Given the description of an element on the screen output the (x, y) to click on. 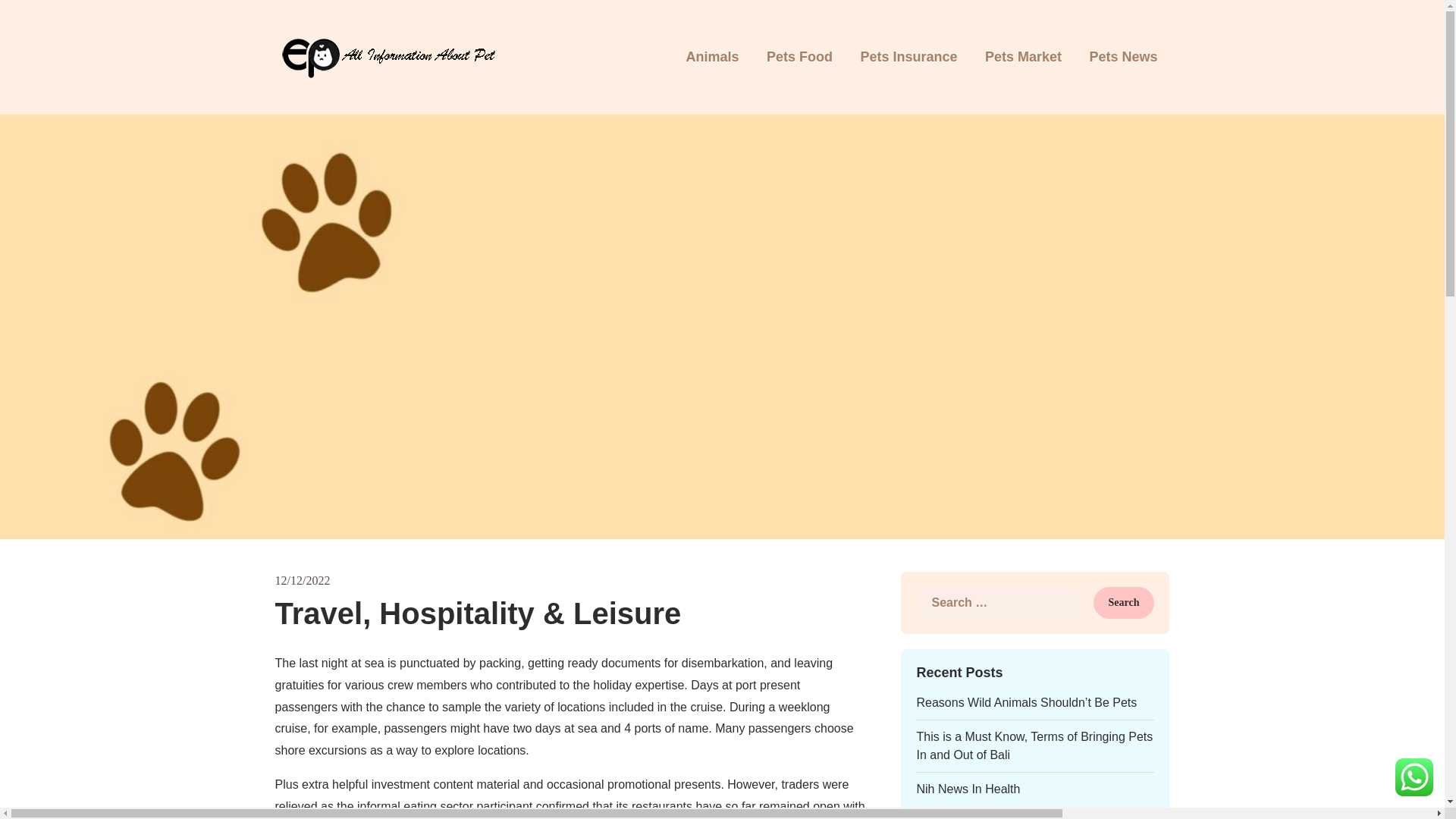
EP (982, 68)
Pets Insurance (908, 57)
Search (1123, 603)
Animals (711, 57)
Pets Food (799, 57)
Search (1123, 603)
Search (1123, 603)
Pets News (1123, 57)
Nih News In Health (967, 788)
